Given the description of an element on the screen output the (x, y) to click on. 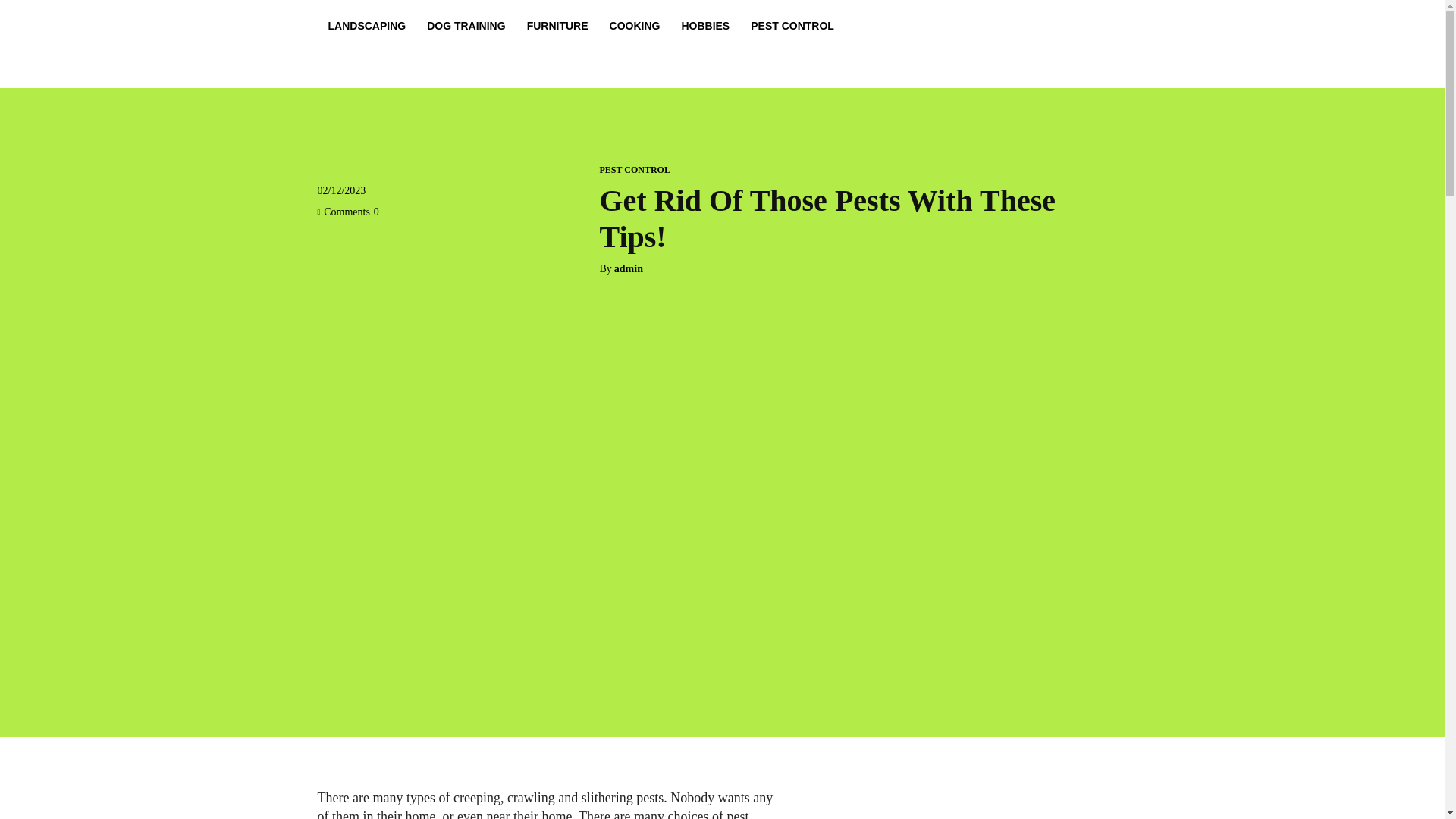
COOKING (634, 25)
PEST CONTROL (633, 169)
admin (628, 269)
FURNITURE (557, 25)
LANDSCAPING (366, 25)
HOBBIES (704, 25)
PEST CONTROL (791, 25)
DOG TRAINING (465, 25)
Comments0 (347, 211)
